Given the description of an element on the screen output the (x, y) to click on. 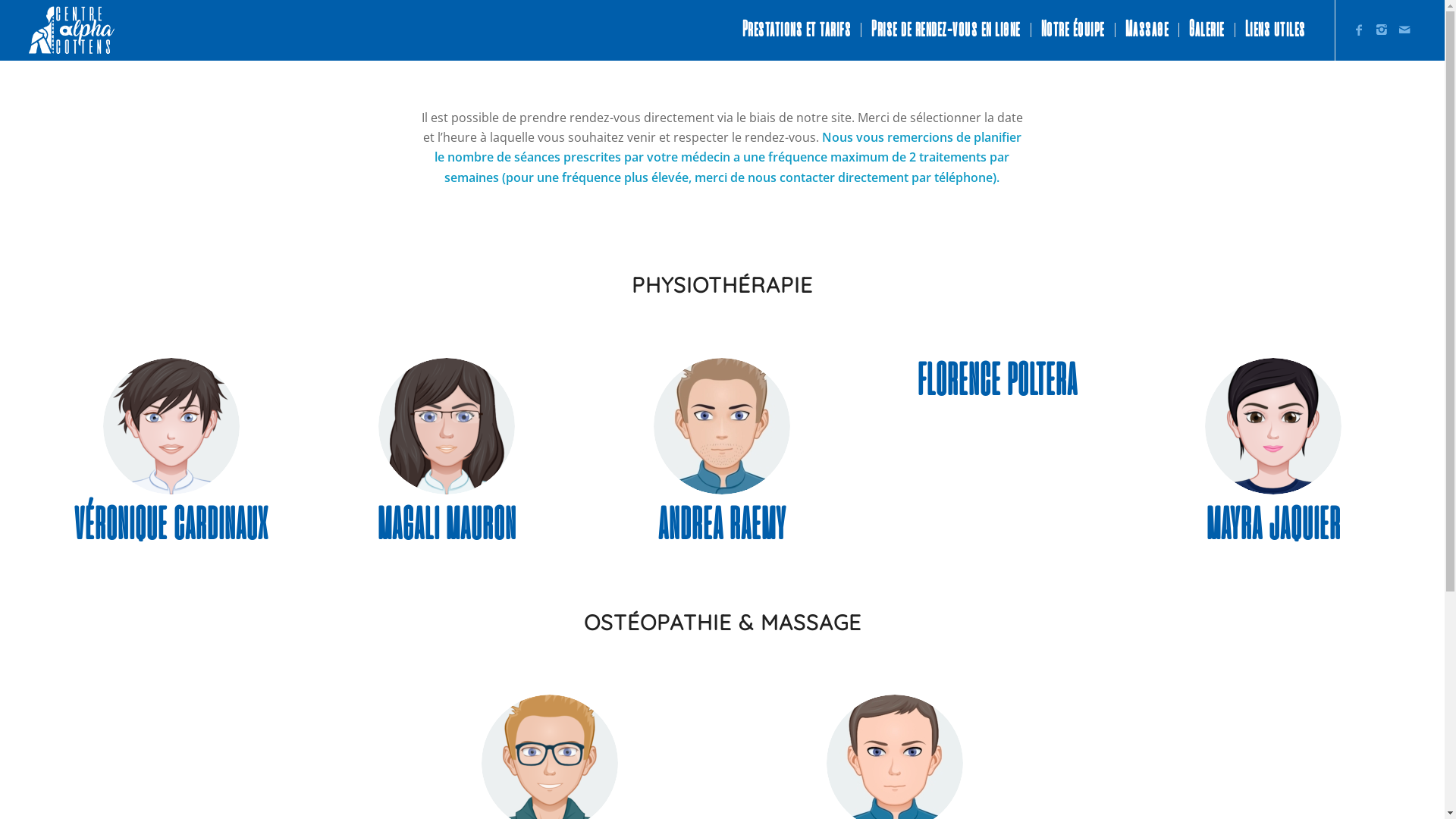
Magali grand Element type: hover (446, 425)
Prestations et tarifs Element type: text (796, 30)
Unknown-1 Element type: hover (721, 425)
FLORENCE POLTERA Element type: text (997, 382)
Facebook Element type: hover (1358, 29)
Mayra Element type: hover (1272, 425)
Prise de rendez-vous en ligne Element type: text (945, 30)
ANDREA RAEMY Element type: text (722, 526)
Galerie Element type: text (1206, 30)
MAYRA JAQUIER Element type: text (1273, 526)
MAGALI MAURON Element type: text (446, 526)
Massage Element type: text (1146, 30)
Liens utiles Element type: text (1274, 30)
Instagram Element type: hover (1381, 29)
Mail Element type: hover (1404, 29)
